Given the description of an element on the screen output the (x, y) to click on. 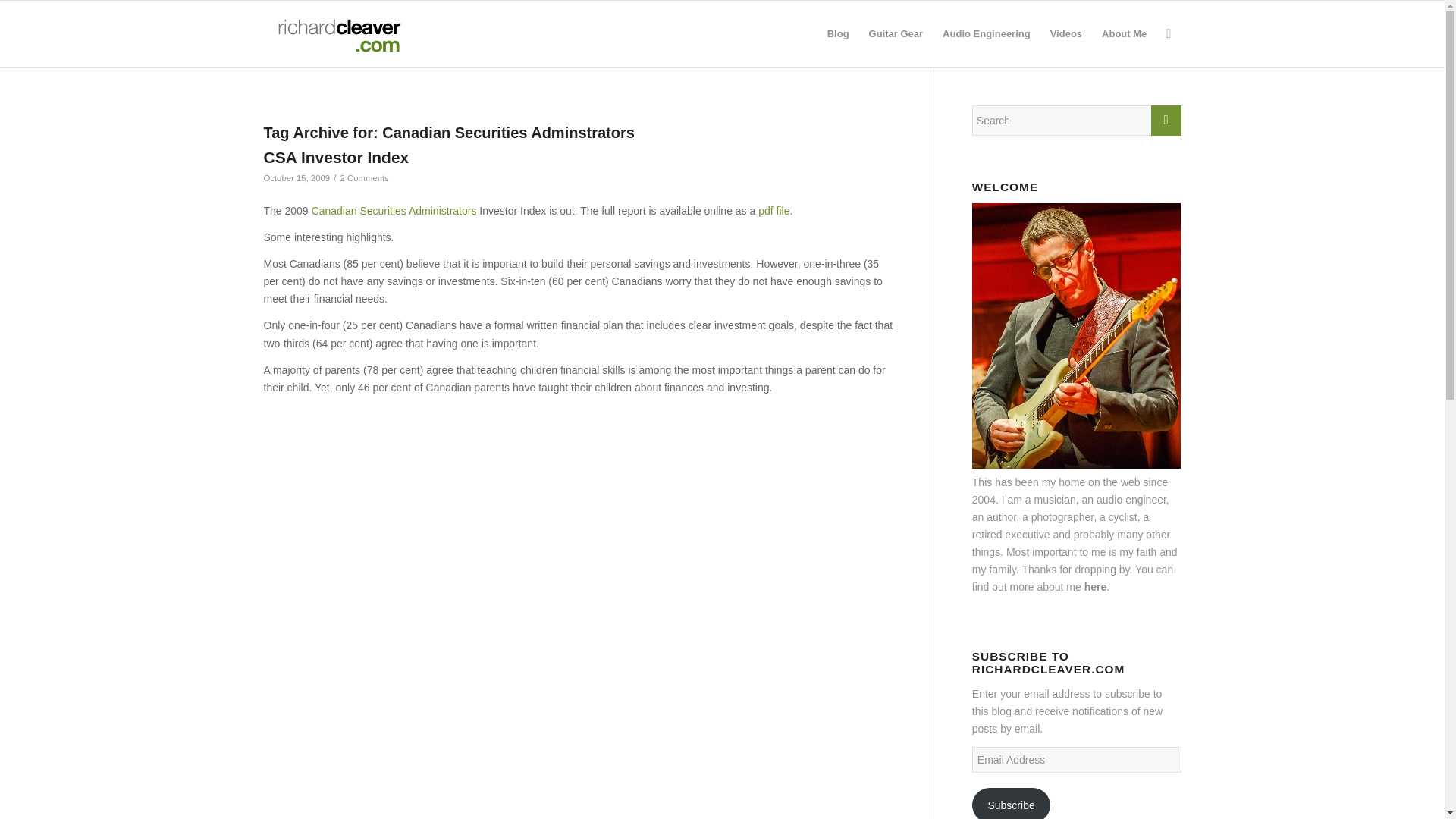
Guitar Gear (896, 33)
About Me (1124, 33)
Audio Engineering (987, 33)
Permanent Link: CSA Investor Index (336, 157)
2 Comments (364, 177)
pdf file (773, 210)
Subscribe (1011, 803)
CSA Investor Index (336, 157)
Canadian Securities Administrators (394, 210)
here (1095, 586)
Videos (1066, 33)
Blog (837, 33)
rcdotcomlogo (336, 33)
